Given the description of an element on the screen output the (x, y) to click on. 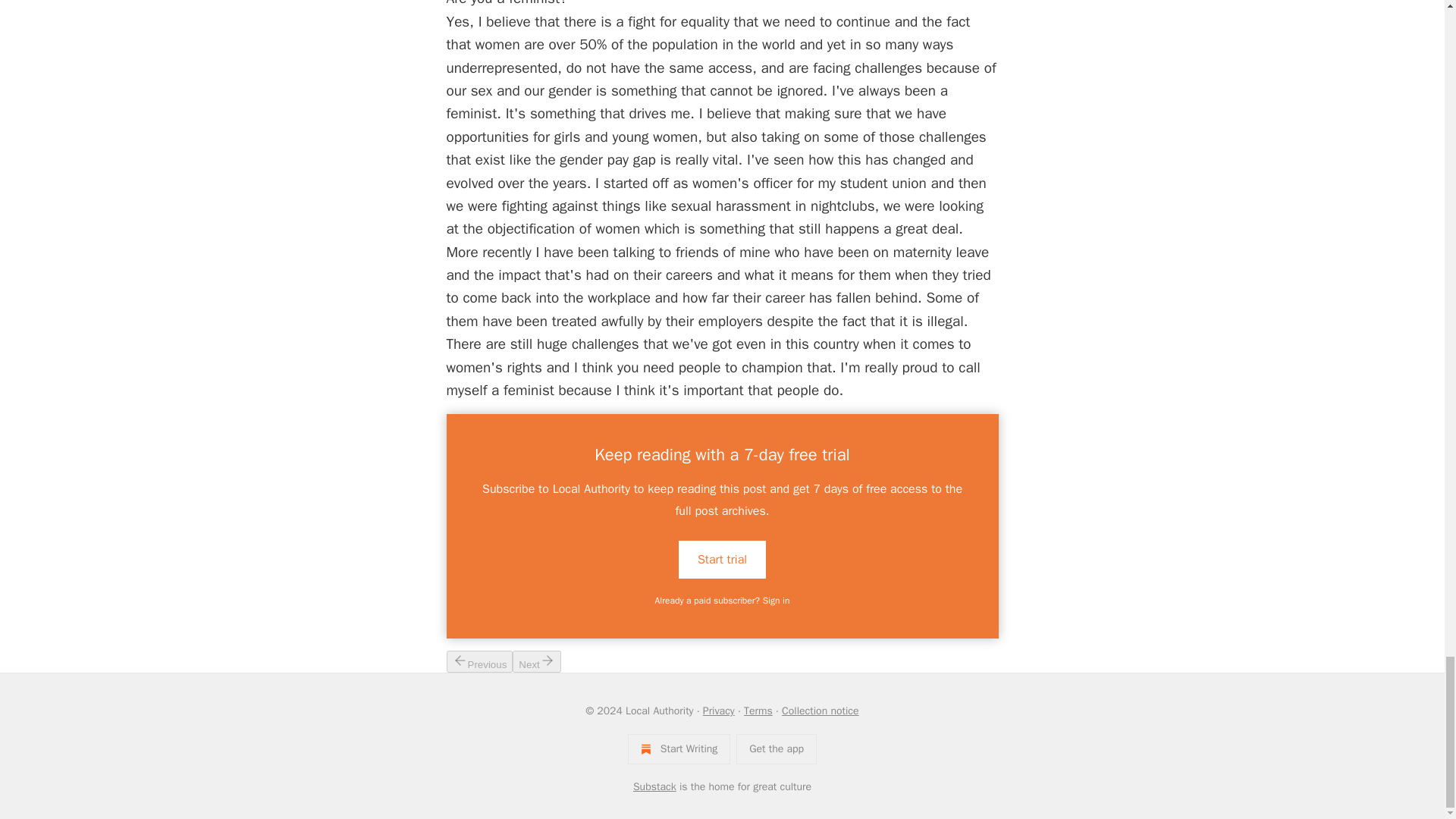
Start trial (721, 559)
Start Writing (678, 748)
Privacy (719, 710)
Substack (655, 786)
Collection notice (820, 710)
Get the app (776, 748)
Previous (478, 661)
Start trial (721, 558)
Next (536, 661)
Terms (758, 710)
Already a paid subscriber? Sign in (722, 600)
